Given the description of an element on the screen output the (x, y) to click on. 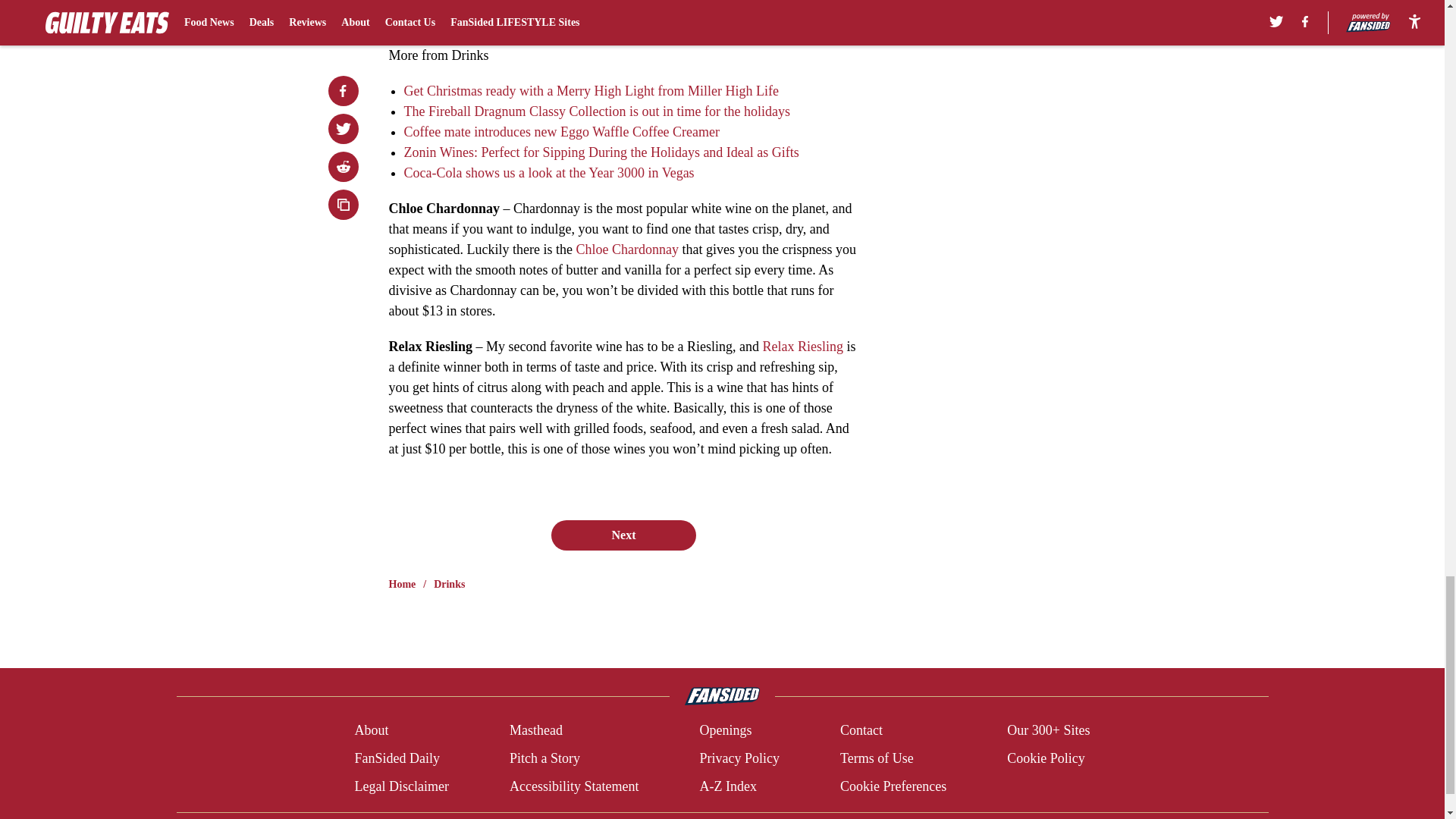
Drinks (448, 584)
Coca-Cola shows us a look at the Year 3000 in Vegas (548, 172)
Coffee mate introduces new Eggo Waffle Coffee Creamer (561, 131)
Chloe Chardonnay (626, 249)
About (370, 730)
Relax Riesling (802, 346)
Home (401, 584)
Next (622, 535)
